Given the description of an element on the screen output the (x, y) to click on. 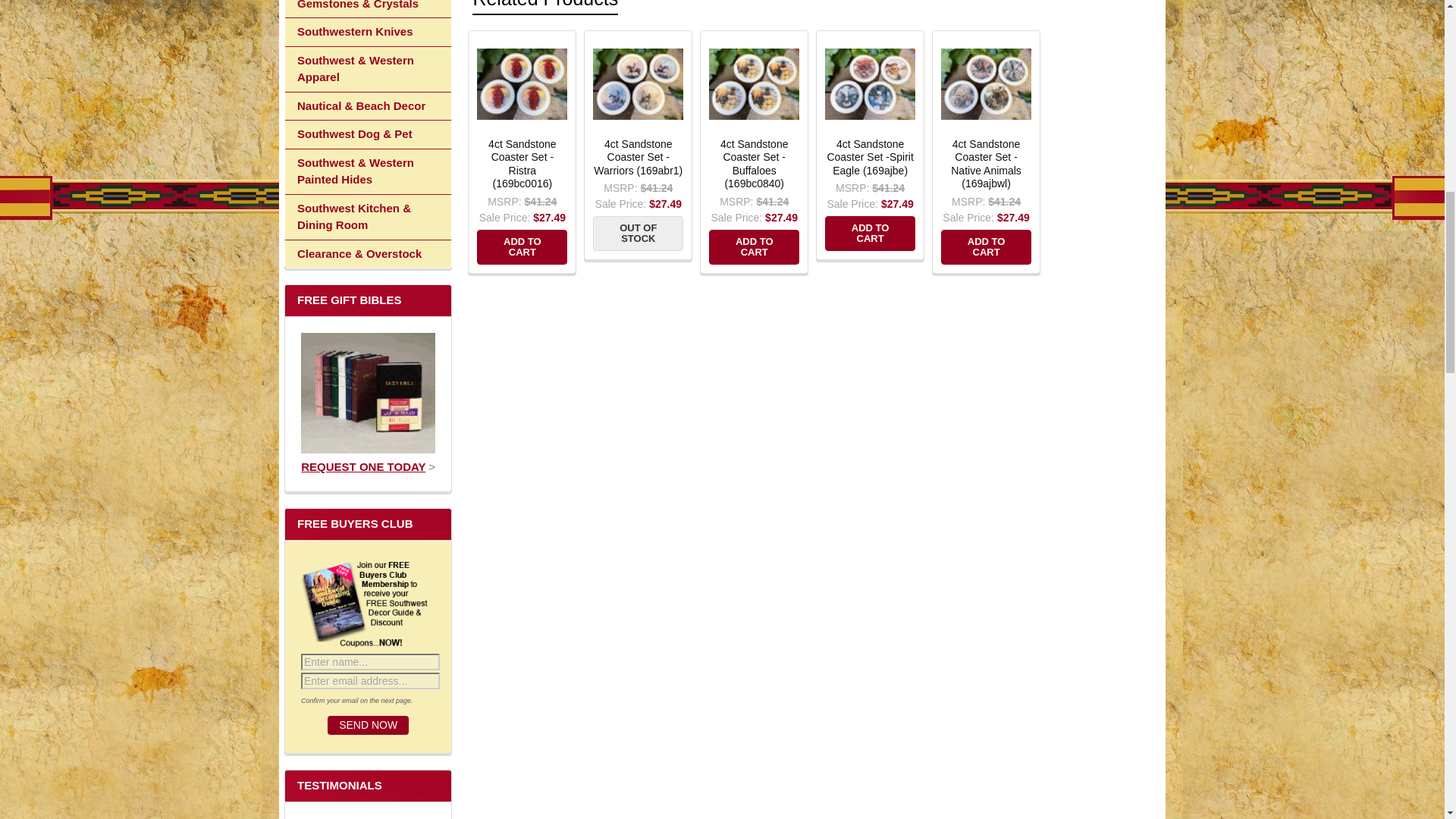
Send Now (368, 724)
Enter name... (370, 661)
Sandstone Coaster Set -Buffaloes (754, 83)
Sandstone Coaster Set -Native Animals (985, 83)
Sandstone Coaster Set -Spirit Eagle (870, 83)
Sandstone Coaster Set -Warriors (637, 83)
Enter email address... (370, 680)
Sandstone Coaster Set -Ristra (522, 83)
